Given the description of an element on the screen output the (x, y) to click on. 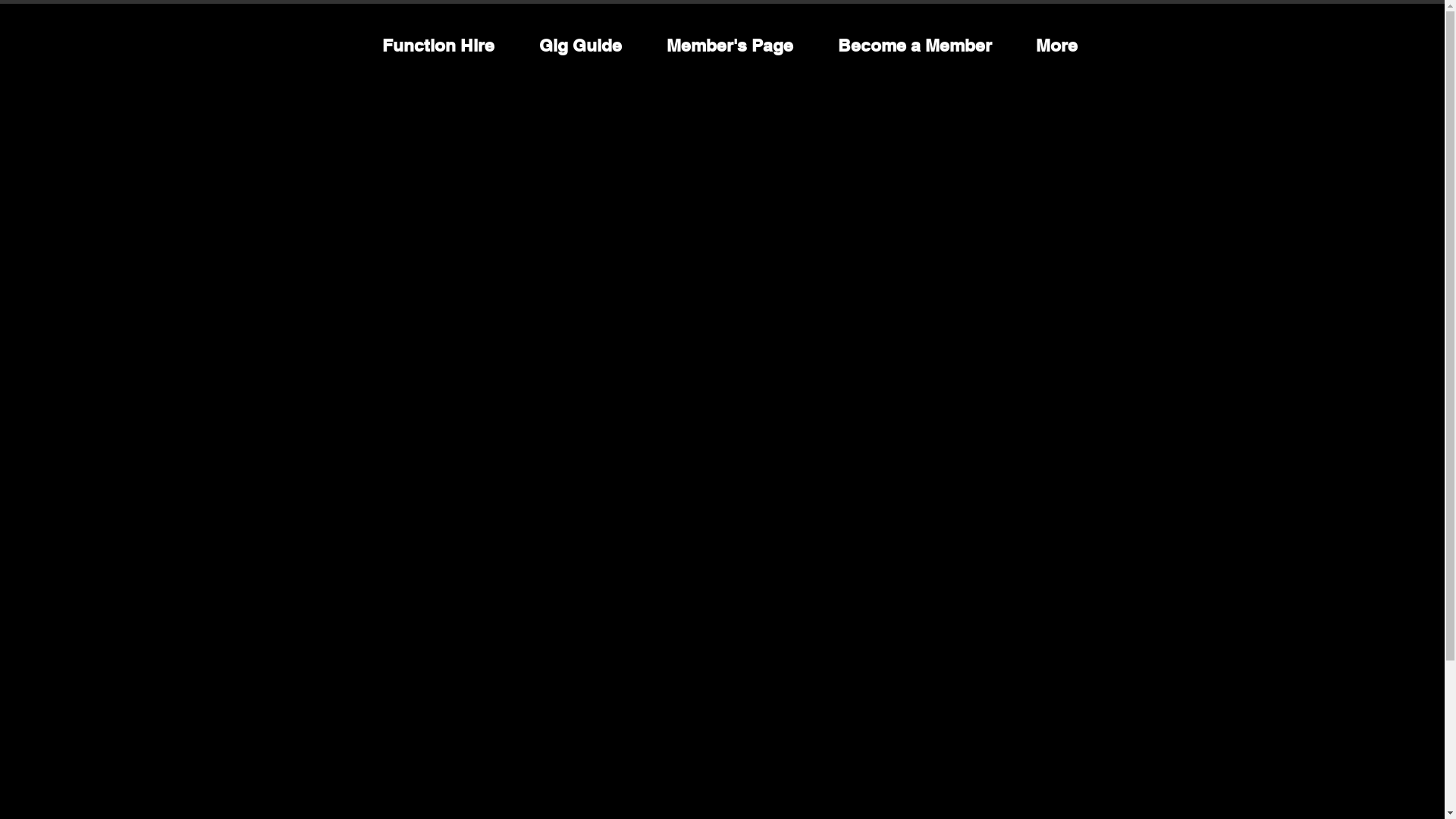
Function Hire Element type: text (437, 45)
Member's Page Element type: text (729, 45)
Gig Guide Element type: text (580, 45)
Become a Member Element type: text (914, 45)
